Given the description of an element on the screen output the (x, y) to click on. 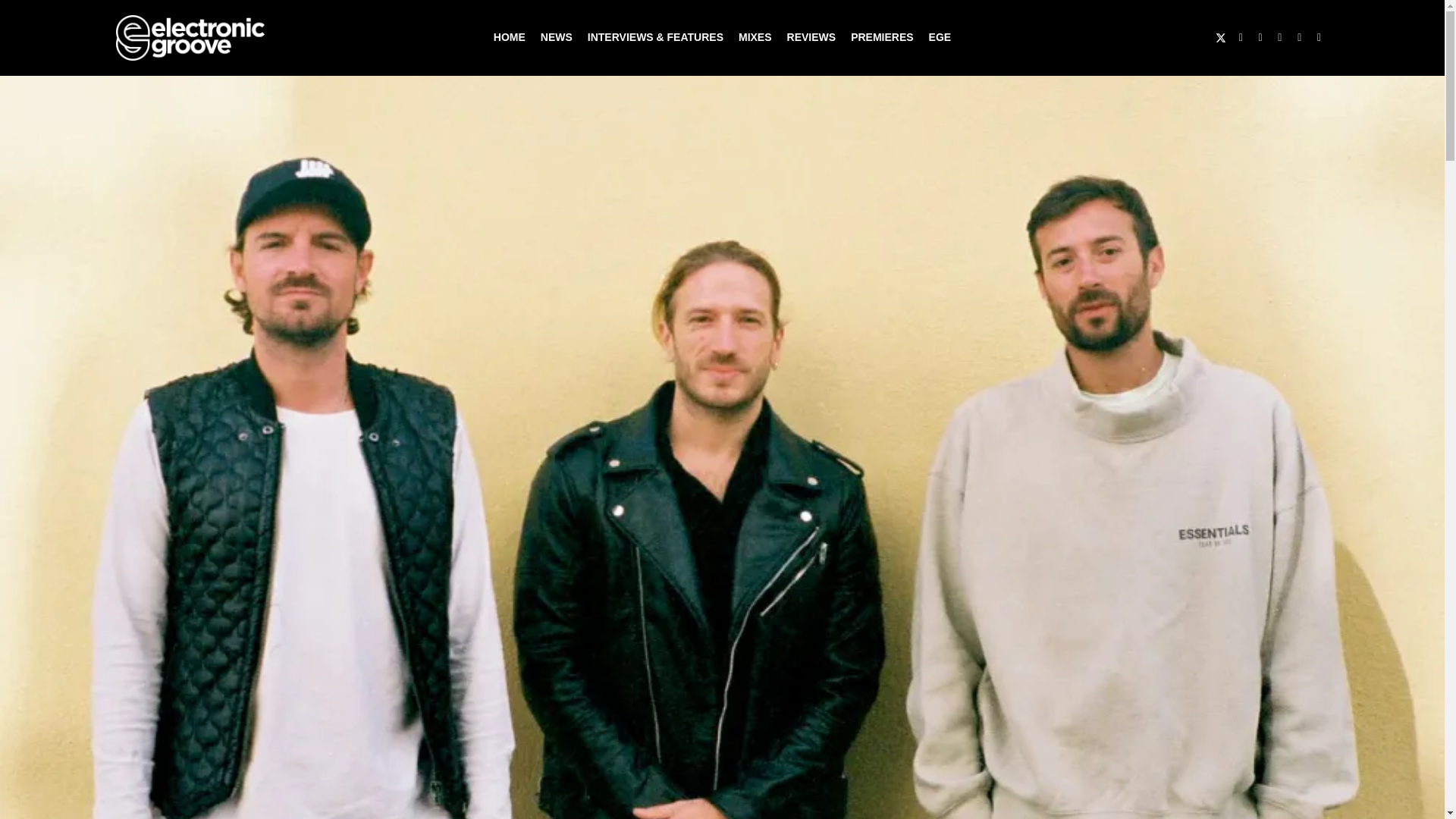
YouTube (1279, 37)
EGE (940, 37)
NEWS (555, 37)
Email (1299, 37)
Email (1299, 37)
PREMIERES (881, 37)
MIXES (754, 37)
Spotify (1318, 37)
Facebook (1240, 37)
Spotify (1318, 37)
